Given the description of an element on the screen output the (x, y) to click on. 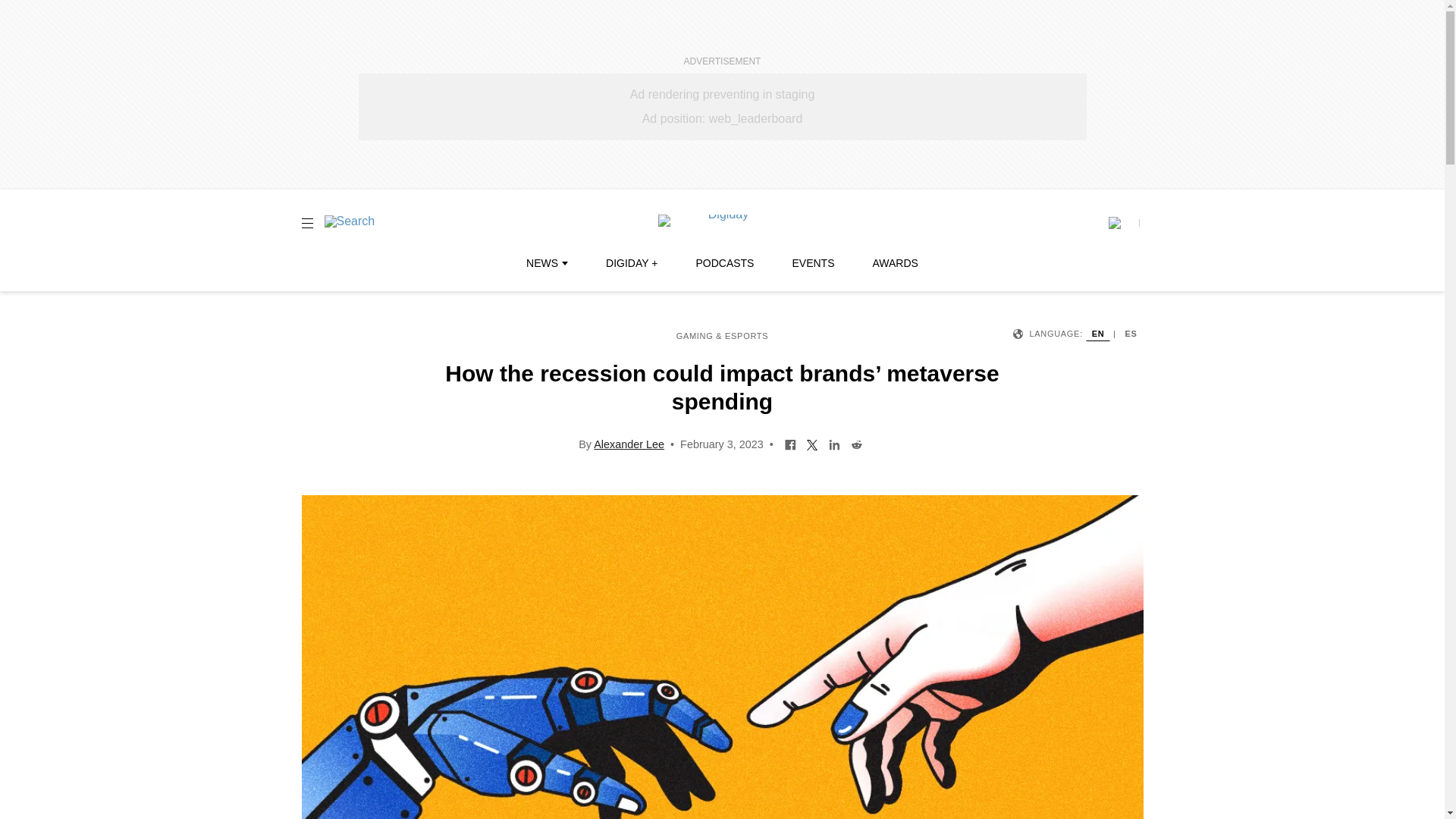
AWARDS (894, 262)
Share on Twitter (812, 443)
NEWS (546, 262)
PODCASTS (725, 262)
Share on Reddit (856, 443)
EVENTS (813, 262)
Share on Facebook (790, 443)
Share on LinkedIn (834, 443)
Subscribe (1123, 223)
